Given the description of an element on the screen output the (x, y) to click on. 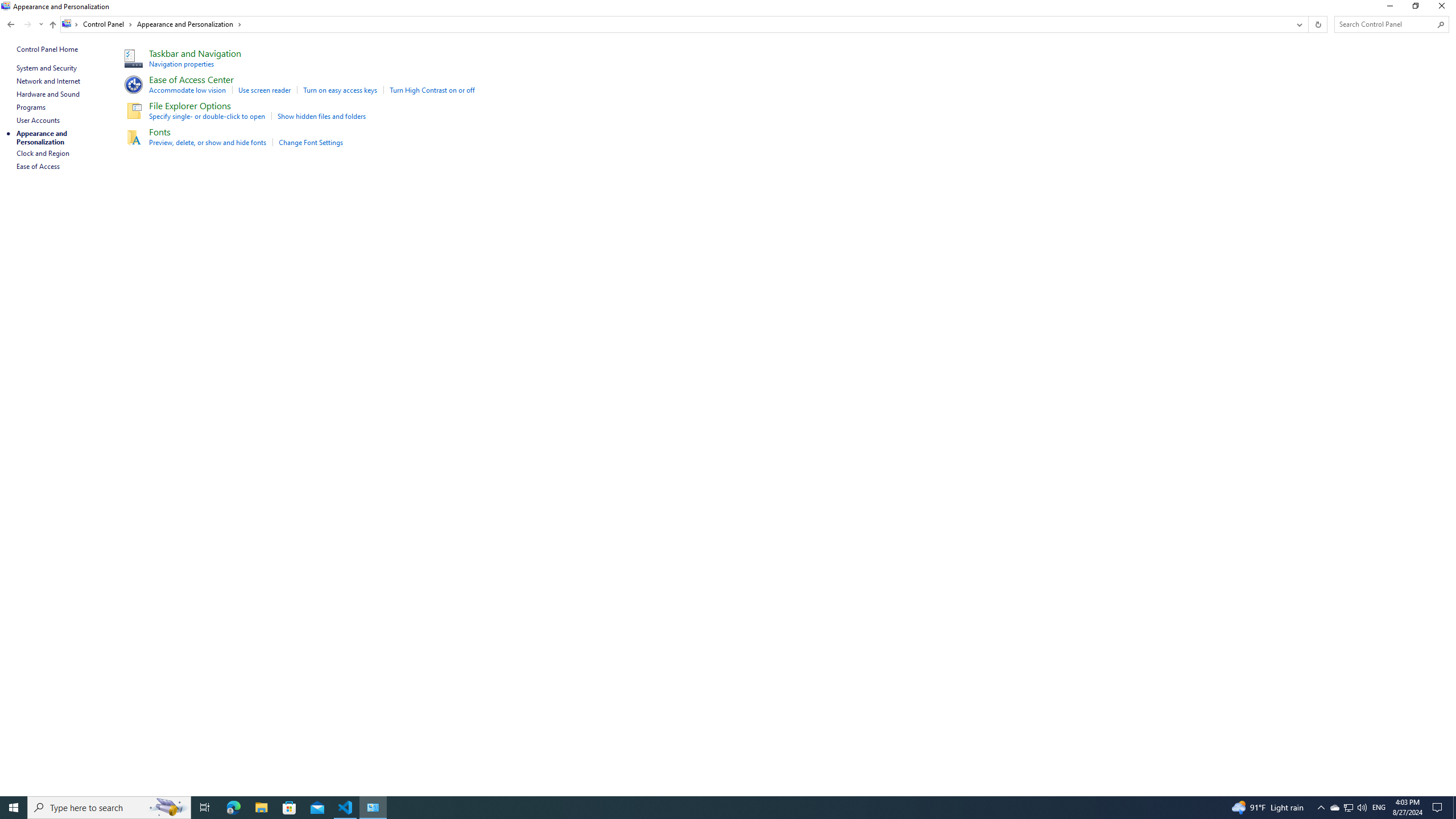
File Explorer Options (189, 105)
Task View (204, 807)
Icon (132, 136)
Programs (31, 107)
Control Panel - 1 running window (373, 807)
Preview, delete, or show and hide fonts (207, 142)
Taskbar and Navigation (194, 52)
All locations (70, 23)
Running applications (706, 807)
Notification Chevron (1320, 807)
Q2790: 100% (1361, 807)
Recent locations (1333, 807)
Visual Studio Code - 1 running window (40, 23)
